Given the description of an element on the screen output the (x, y) to click on. 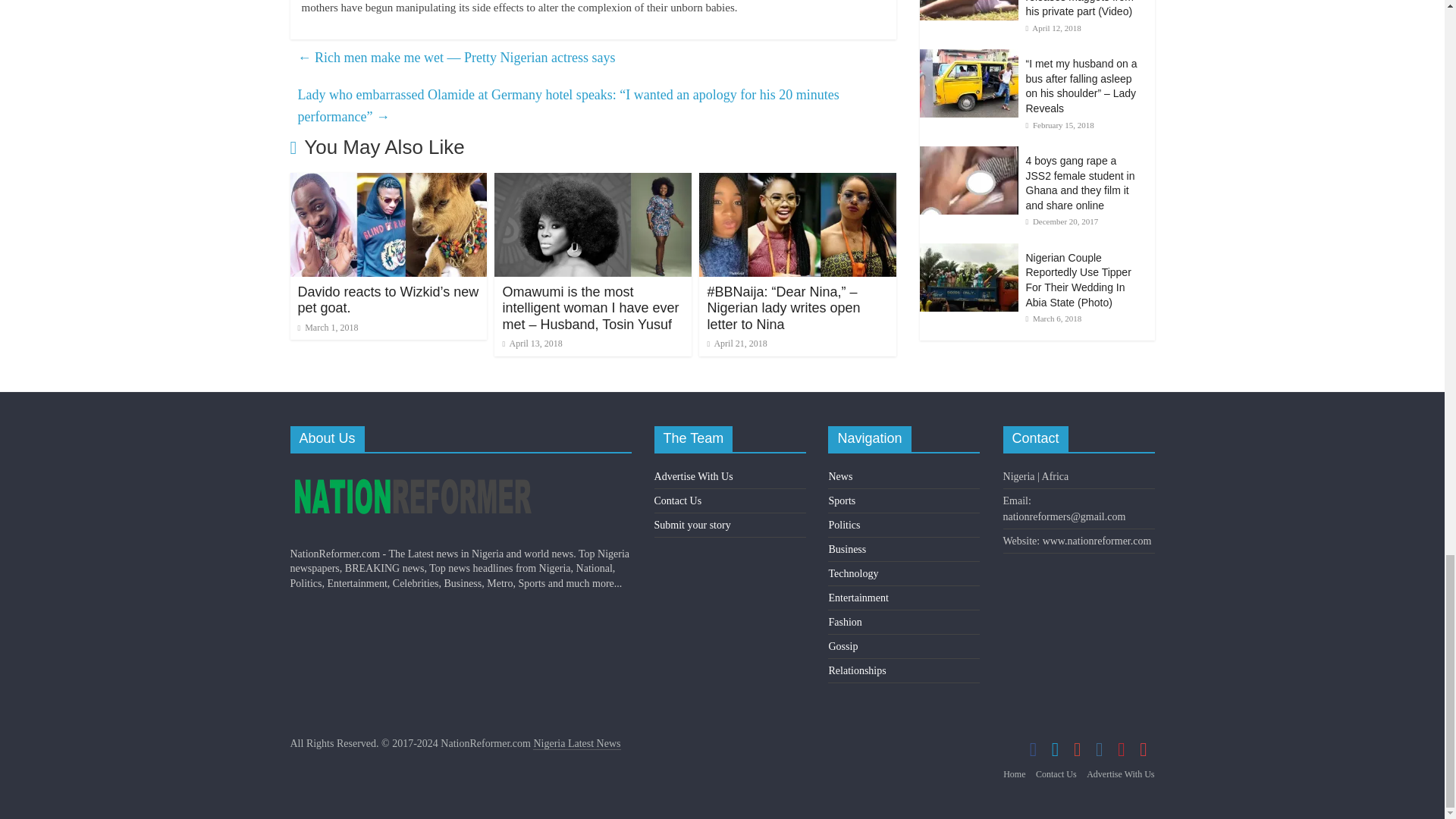
March 1, 2018 (327, 327)
11:06 am (327, 327)
4:09 pm (532, 343)
April 13, 2018 (532, 343)
